Given the description of an element on the screen output the (x, y) to click on. 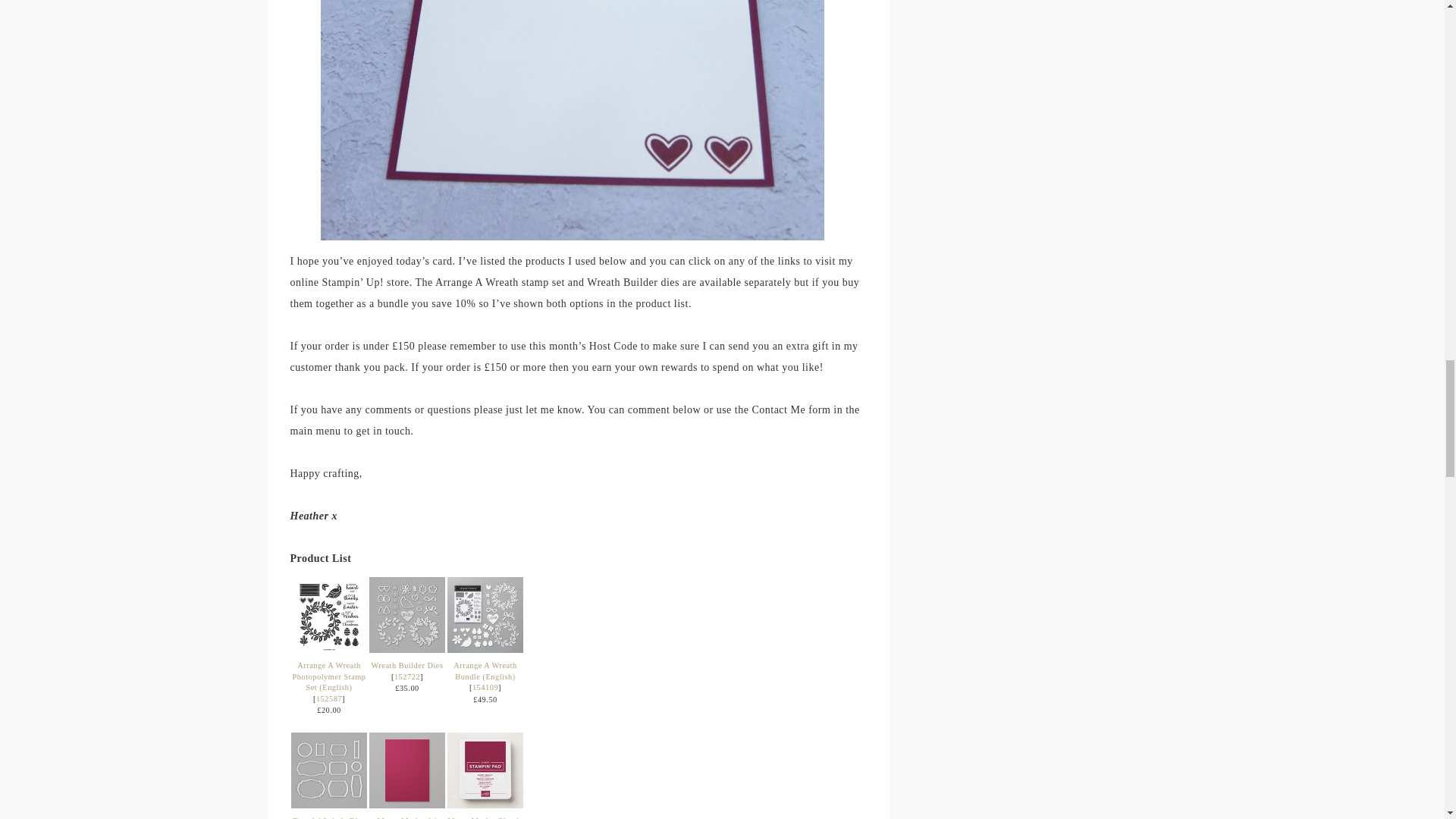
Tasteful Labels Dies (328, 770)
Wreath Builder Dies (406, 664)
Tasteful Labels Dies (328, 817)
Wreath Builder Dies (407, 614)
Tasteful Labels Dies (328, 804)
152587 (328, 698)
Tasteful Labels Dies (328, 817)
Wreath Builder Dies (407, 649)
152722 (407, 676)
154109 (484, 687)
Wreath Builder Dies (407, 676)
Merry Merlot A4 Cardstock (406, 817)
Wreath Builder Dies (406, 664)
